Given the description of an element on the screen output the (x, y) to click on. 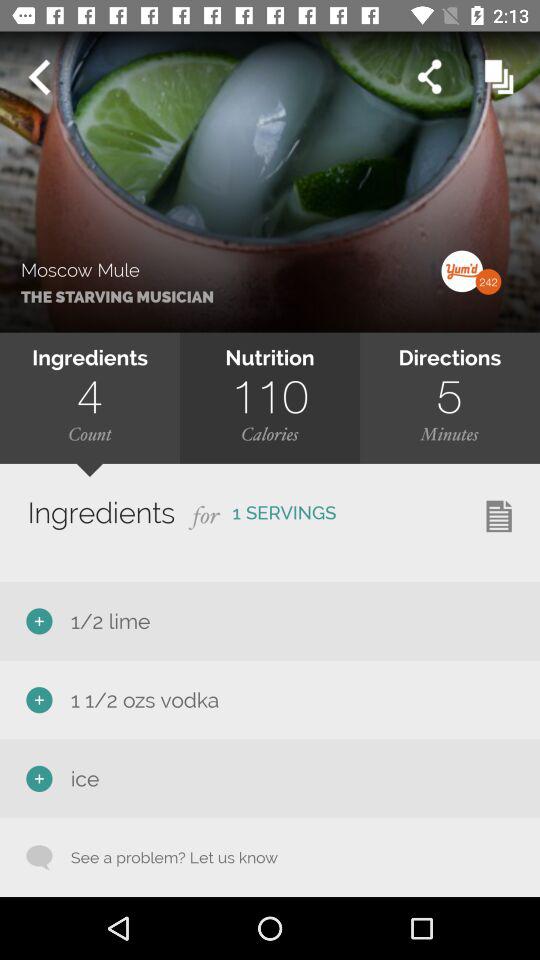
turn off ice (81, 778)
